Given the description of an element on the screen output the (x, y) to click on. 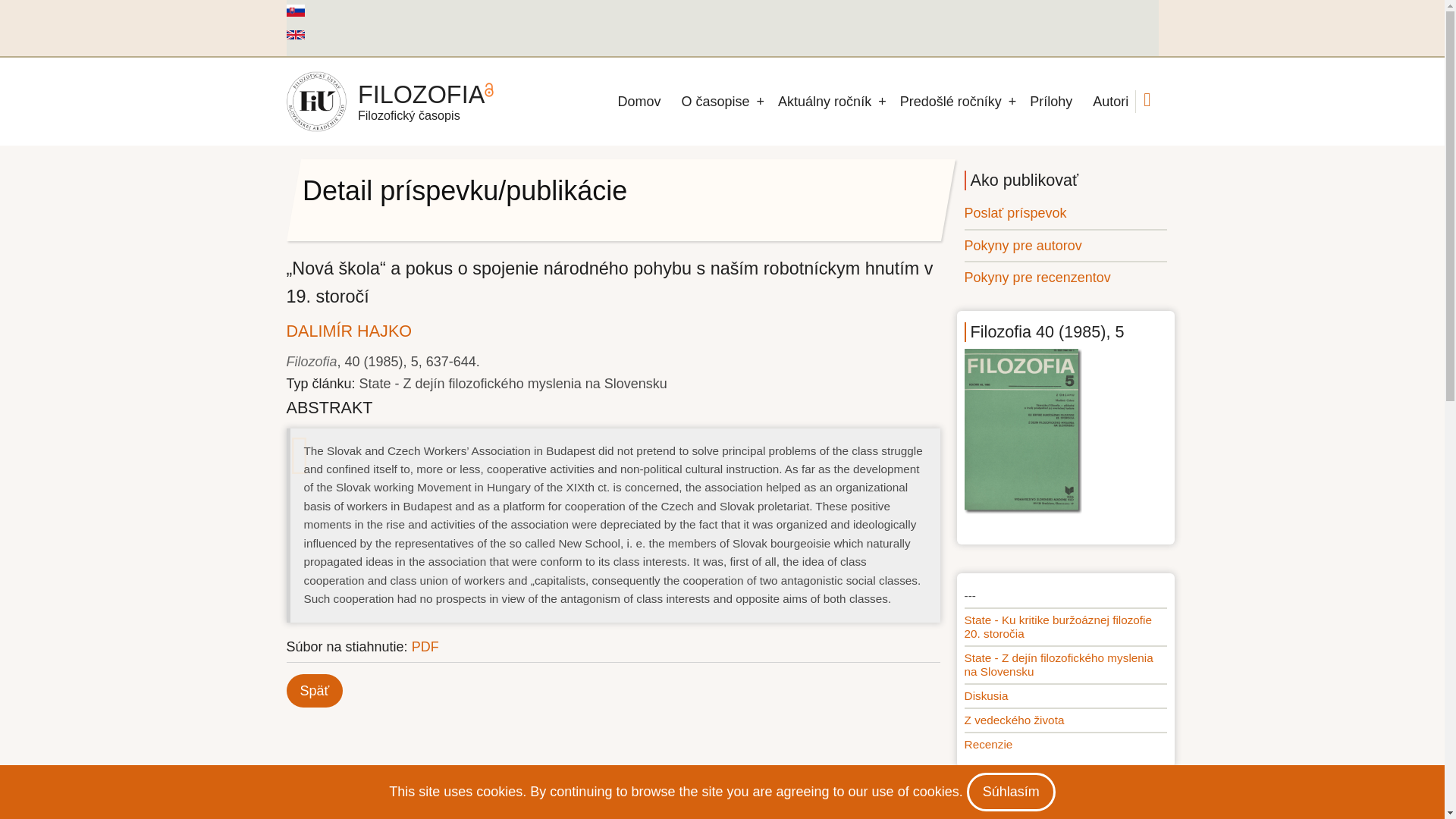
Domov (639, 101)
Domov (316, 101)
Autori (1110, 101)
English (295, 34)
Domov (421, 94)
FILOZOFIA (421, 94)
